Given the description of an element on the screen output the (x, y) to click on. 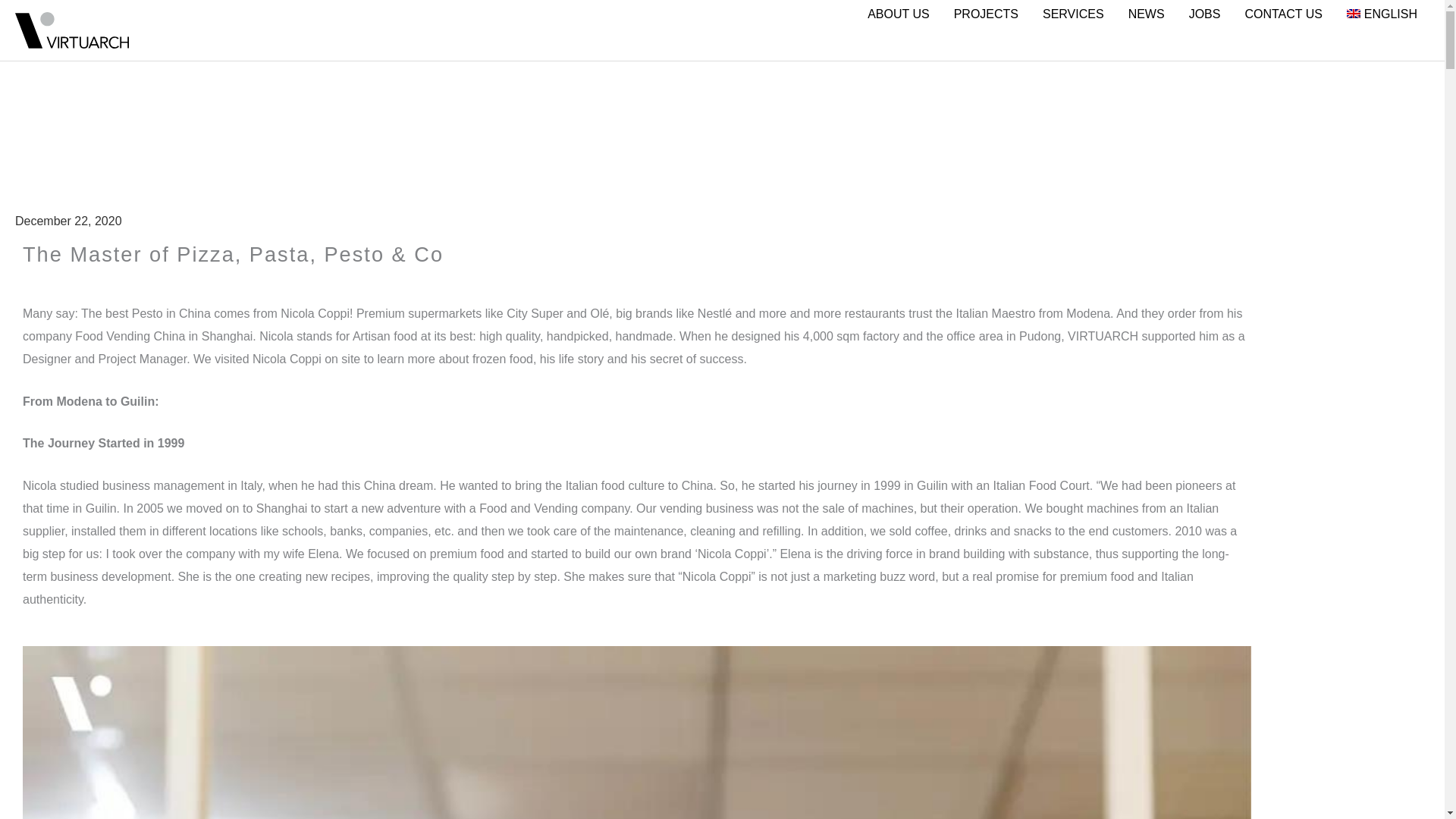
NEWS (1146, 13)
ABOUT US (899, 13)
ENGLISH (1382, 13)
JOBS (1204, 13)
CONTACT US (1283, 13)
SERVICES (1073, 13)
English (1382, 13)
PROJECTS (986, 13)
